Given the description of an element on the screen output the (x, y) to click on. 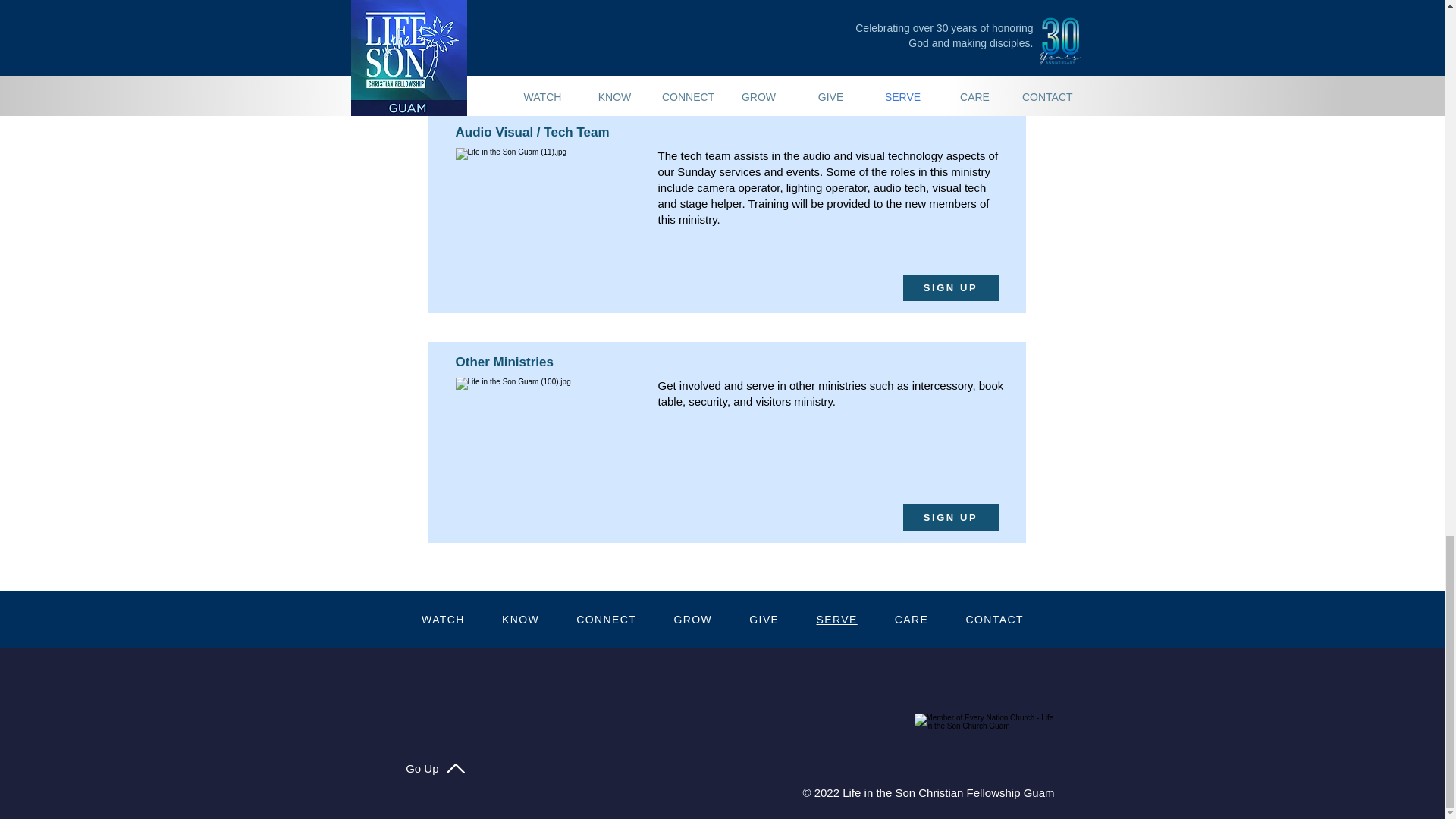
CONNECT (606, 619)
SIGN UP (949, 58)
SIGN UP (949, 287)
CARE (911, 619)
WATCH (443, 619)
GIVE (763, 619)
Life Groups Leaders-17.png (546, 204)
KNOW (520, 619)
SERVE (836, 619)
Life Groups Leaders-17.png (546, 15)
